Given the description of an element on the screen output the (x, y) to click on. 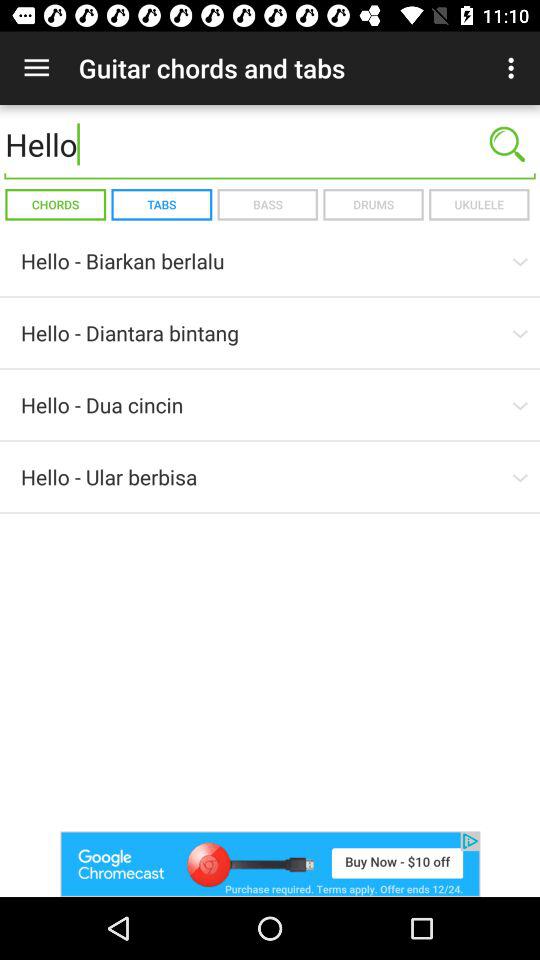
google chromcast advertisement (270, 864)
